Given the description of an element on the screen output the (x, y) to click on. 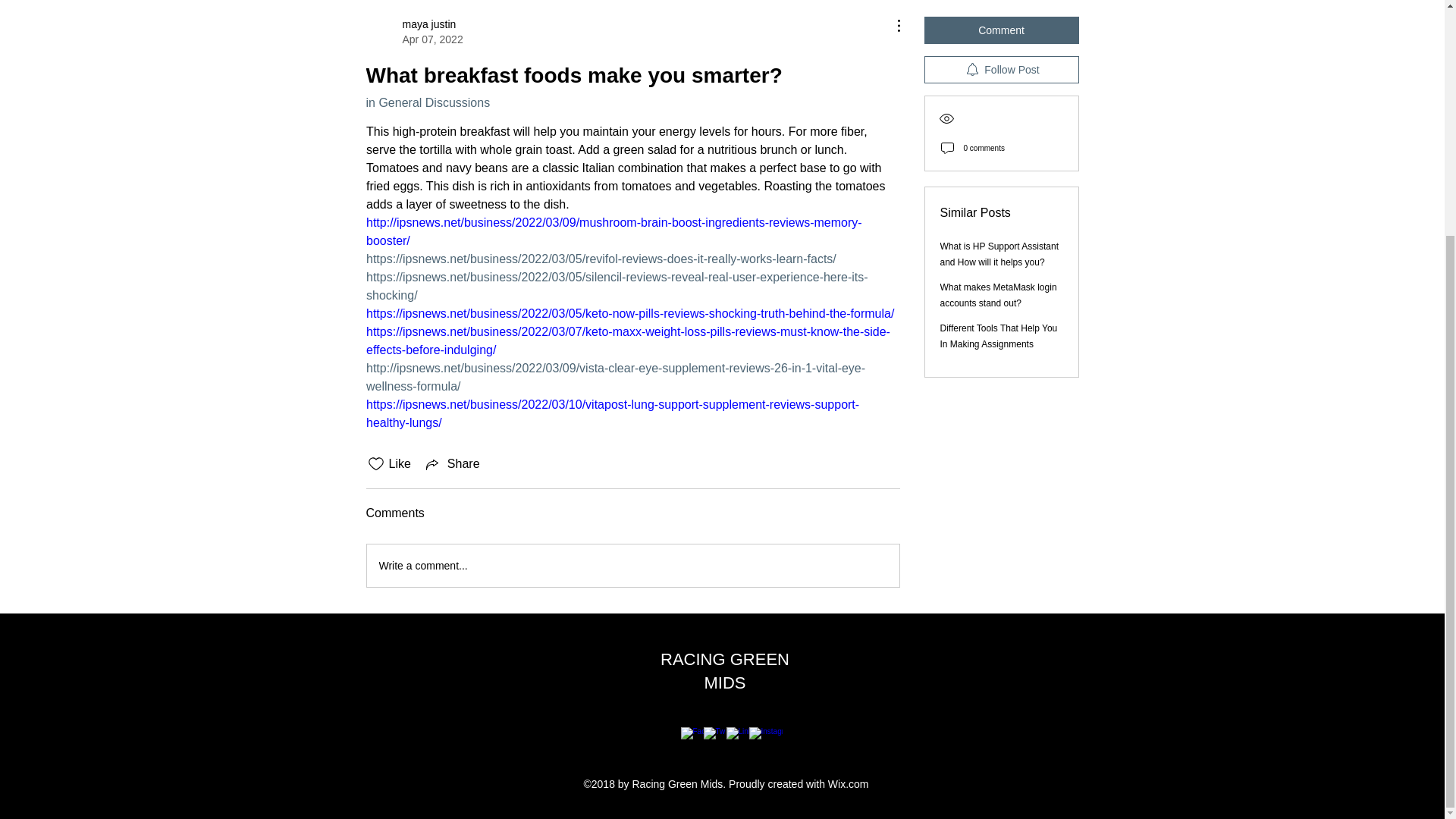
What is HP Support Assistant and How will it helps you? (999, 253)
in General Discussions (427, 102)
What makes MetaMask login accounts stand out? (998, 294)
Share (451, 464)
Different Tools That Help You In Making Assignments (999, 335)
Follow Post (1000, 69)
Write a comment... (414, 31)
Comment (632, 565)
